Given the description of an element on the screen output the (x, y) to click on. 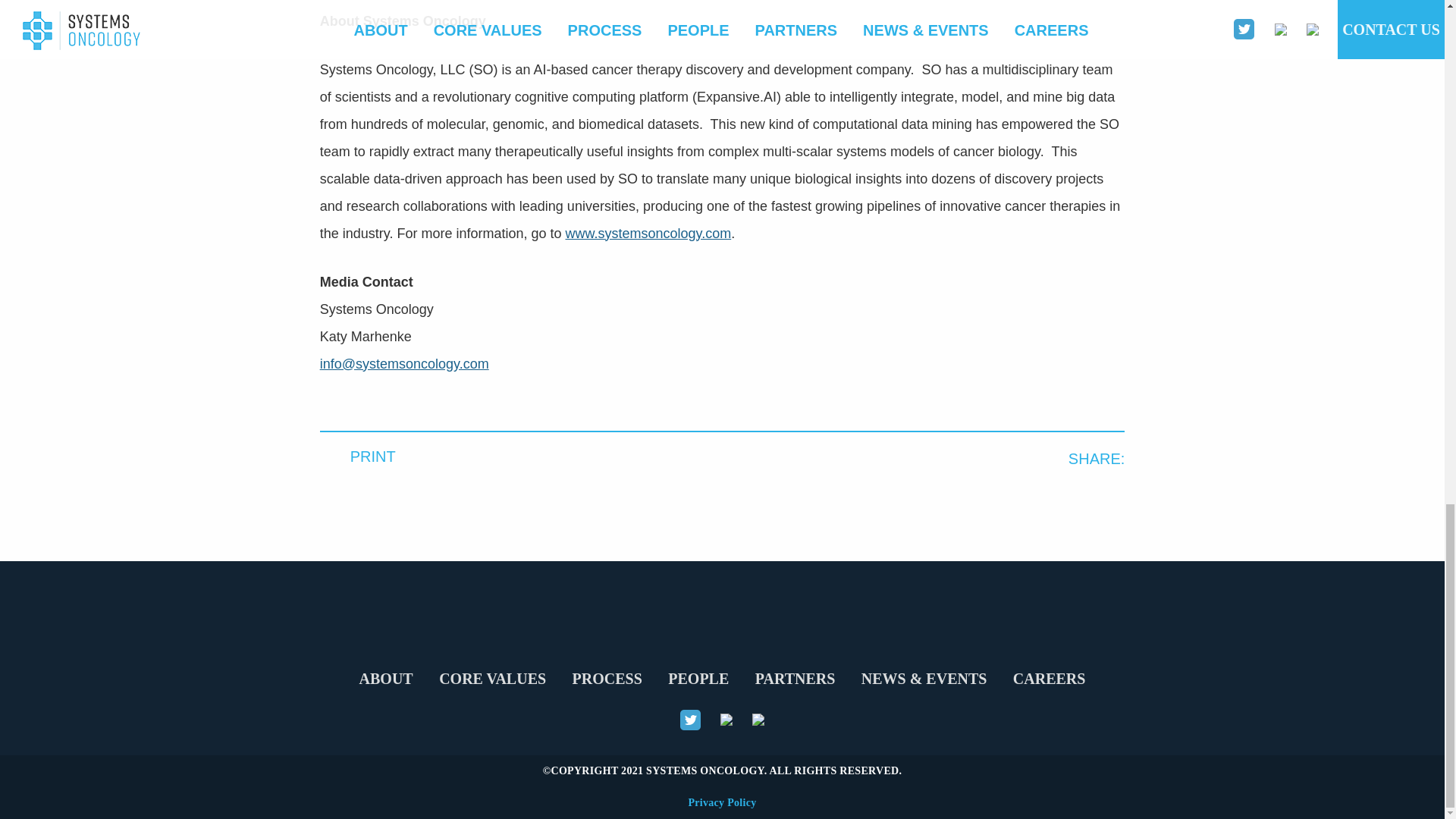
PARTNERS (795, 677)
CORE VALUES (492, 677)
ABOUT (386, 677)
www.systemsoncology.com (647, 232)
PEOPLE (697, 677)
Print Page (358, 456)
PROCESS (606, 677)
PRINT (358, 456)
CAREERS (1049, 677)
